Given the description of an element on the screen output the (x, y) to click on. 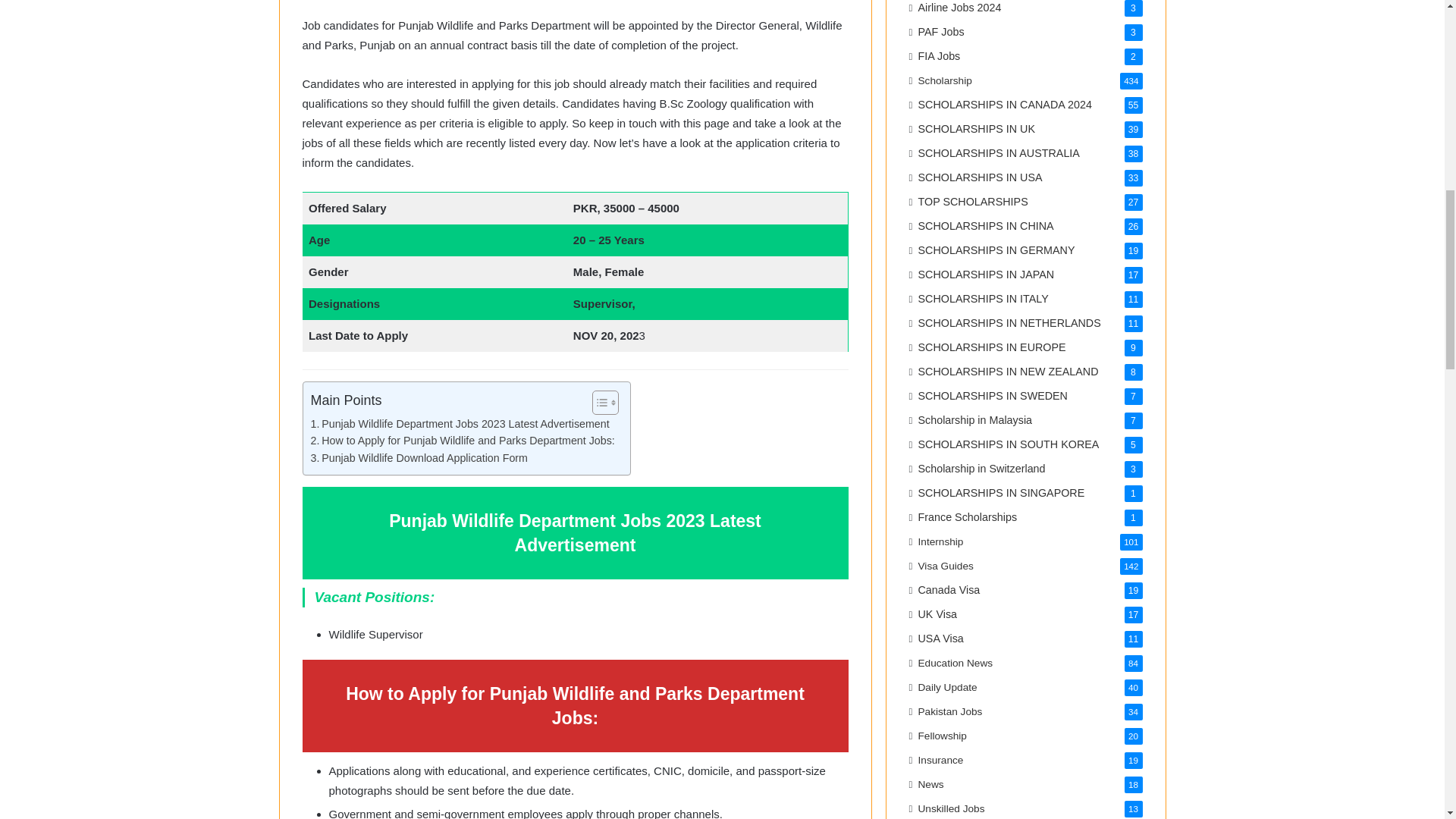
How to Apply for Punjab Wildlife and Parks Department Jobs:  (462, 440)
Punjab Wildlife Department Jobs 2023 Latest Advertisement (460, 424)
Punjab Wildlife Download Application Form (419, 457)
